Given the description of an element on the screen output the (x, y) to click on. 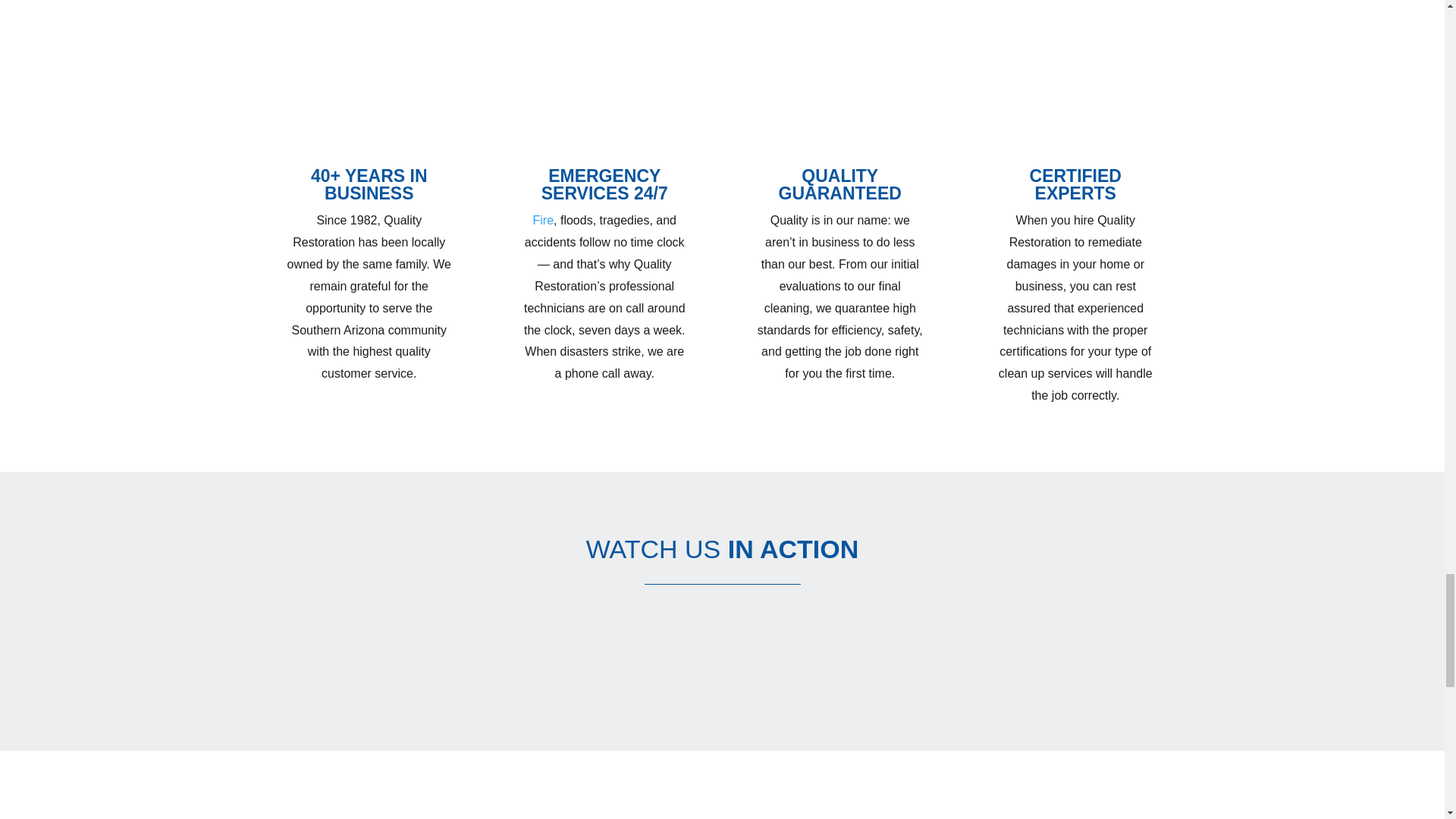
Quality Restoration 24 Hour Emergency Services (722, 714)
